Given the description of an element on the screen output the (x, y) to click on. 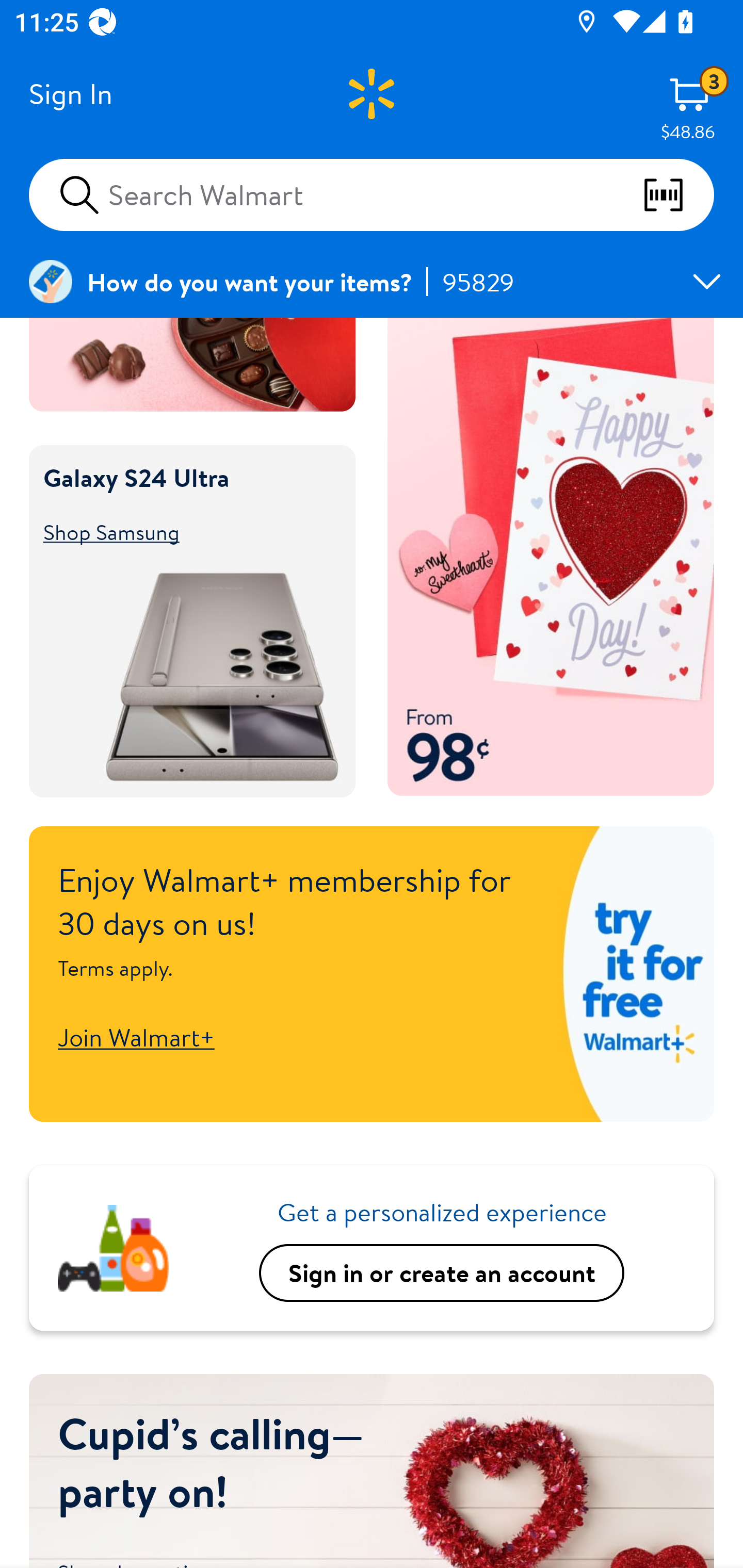
Sign In (70, 93)
Search Walmart scan barcodes qr codes and more (371, 194)
scan barcodes qr codes and more (677, 195)
Say it from the heart  Shop cards Shop cards (550, 557)
Shop Samsung Shop Samsung Galaxy S24 Ultra (183, 532)
Sign in or create an account (441, 1272)
